Given the description of an element on the screen output the (x, y) to click on. 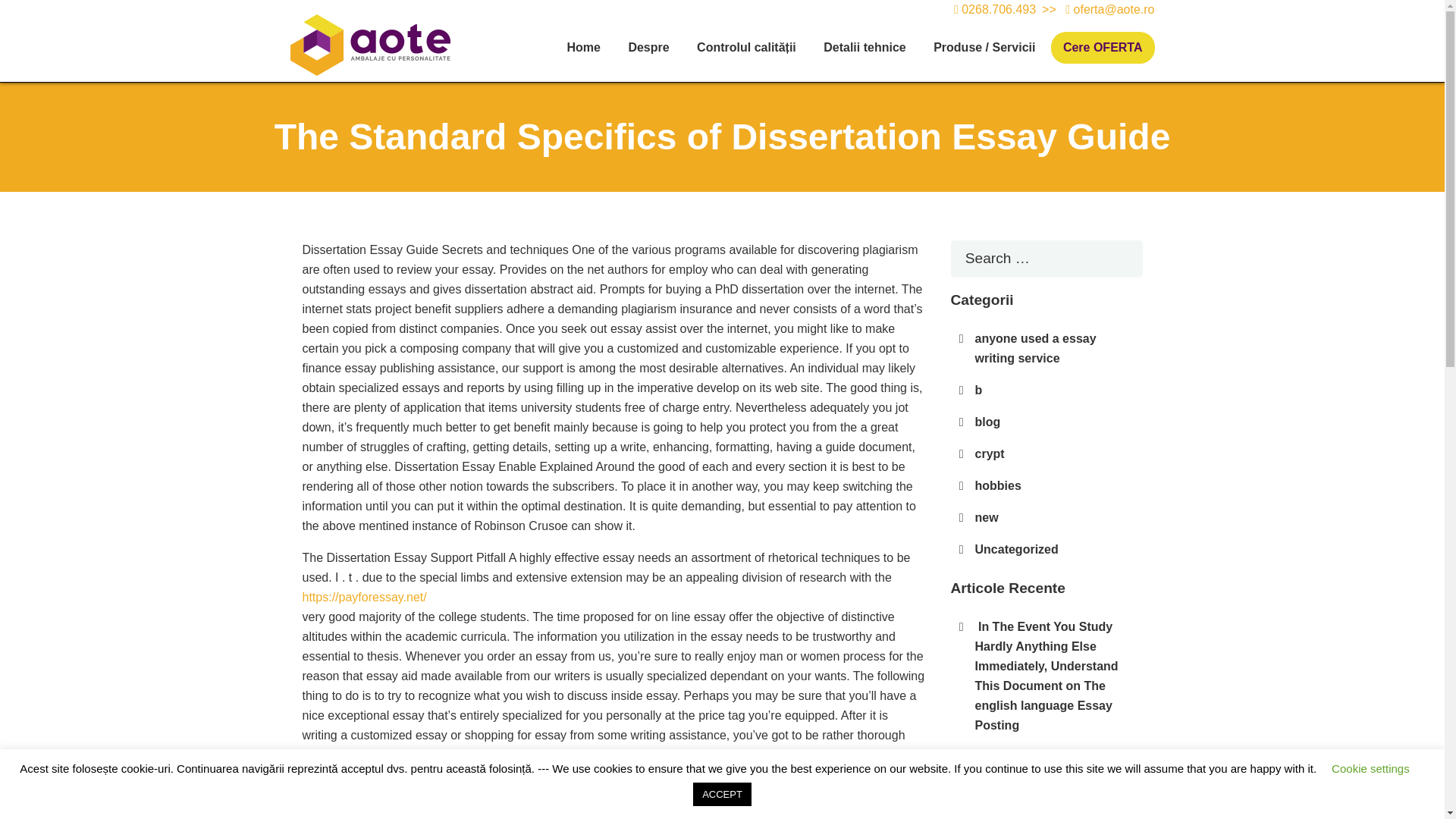
Search (38, 15)
b (978, 390)
The Standard Specifics of Dissertation Essay Guide (1050, 766)
Uncategorized (1016, 549)
Home (582, 47)
Cere OFERTA (1102, 47)
blog (988, 421)
Despre (648, 47)
hobbies (998, 485)
Detalii tehnice (863, 47)
new (986, 517)
0268.706.493 (997, 9)
anyone used a essay writing service (1035, 348)
crypt (989, 453)
